Given the description of an element on the screen output the (x, y) to click on. 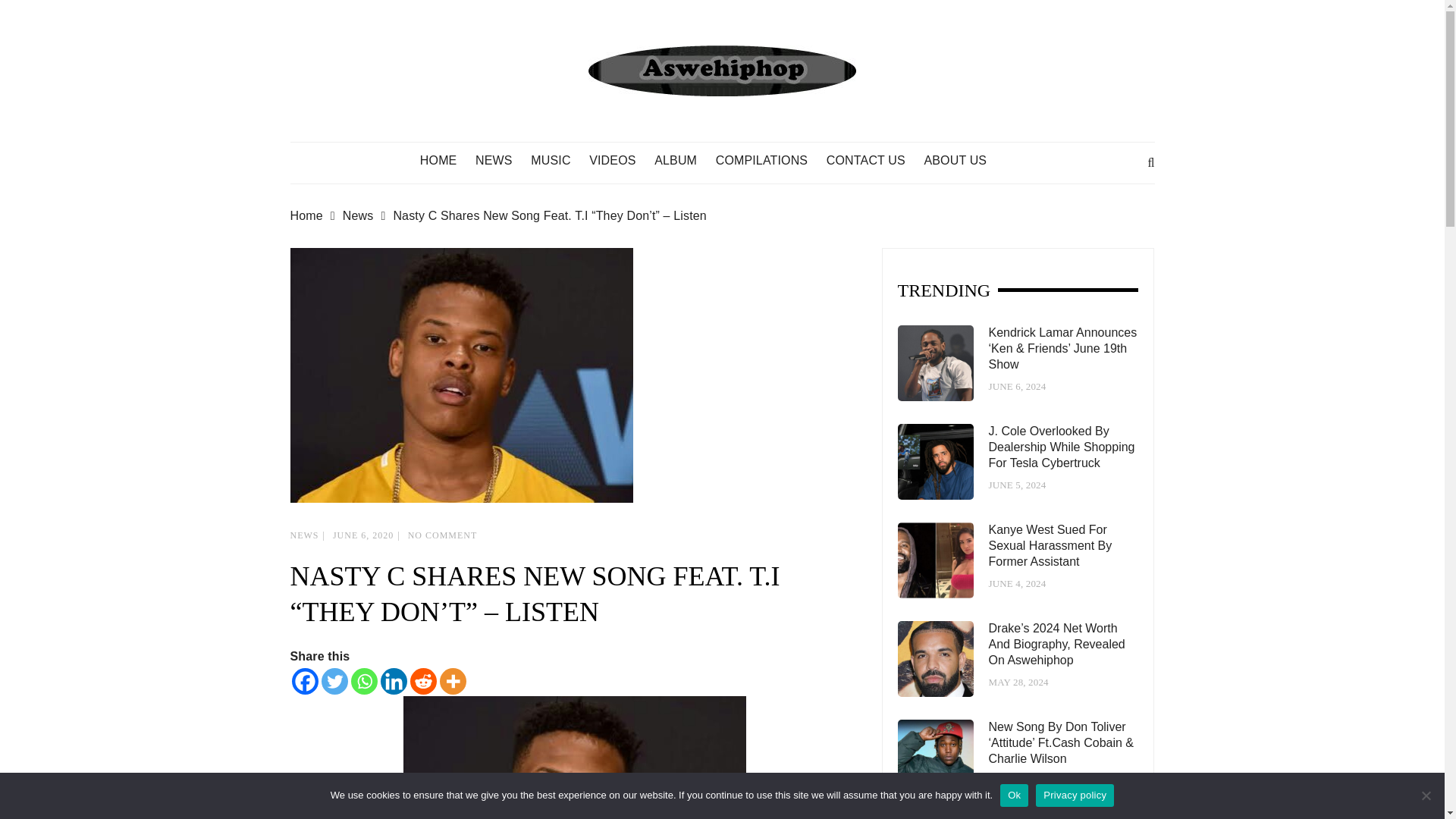
NEWS (303, 534)
More (452, 681)
ABOUT US (962, 160)
NEWS (501, 160)
VIDEOS (619, 160)
No (1425, 795)
Reddit (422, 681)
ALBUM (682, 160)
Twitter (334, 681)
Home (315, 216)
Facebook (304, 681)
CONTACT US (873, 160)
Whatsapp (363, 681)
HOME (445, 160)
Nasty C Shares New Song Feat. T.I "They Don't" - Listen (574, 757)
